Given the description of an element on the screen output the (x, y) to click on. 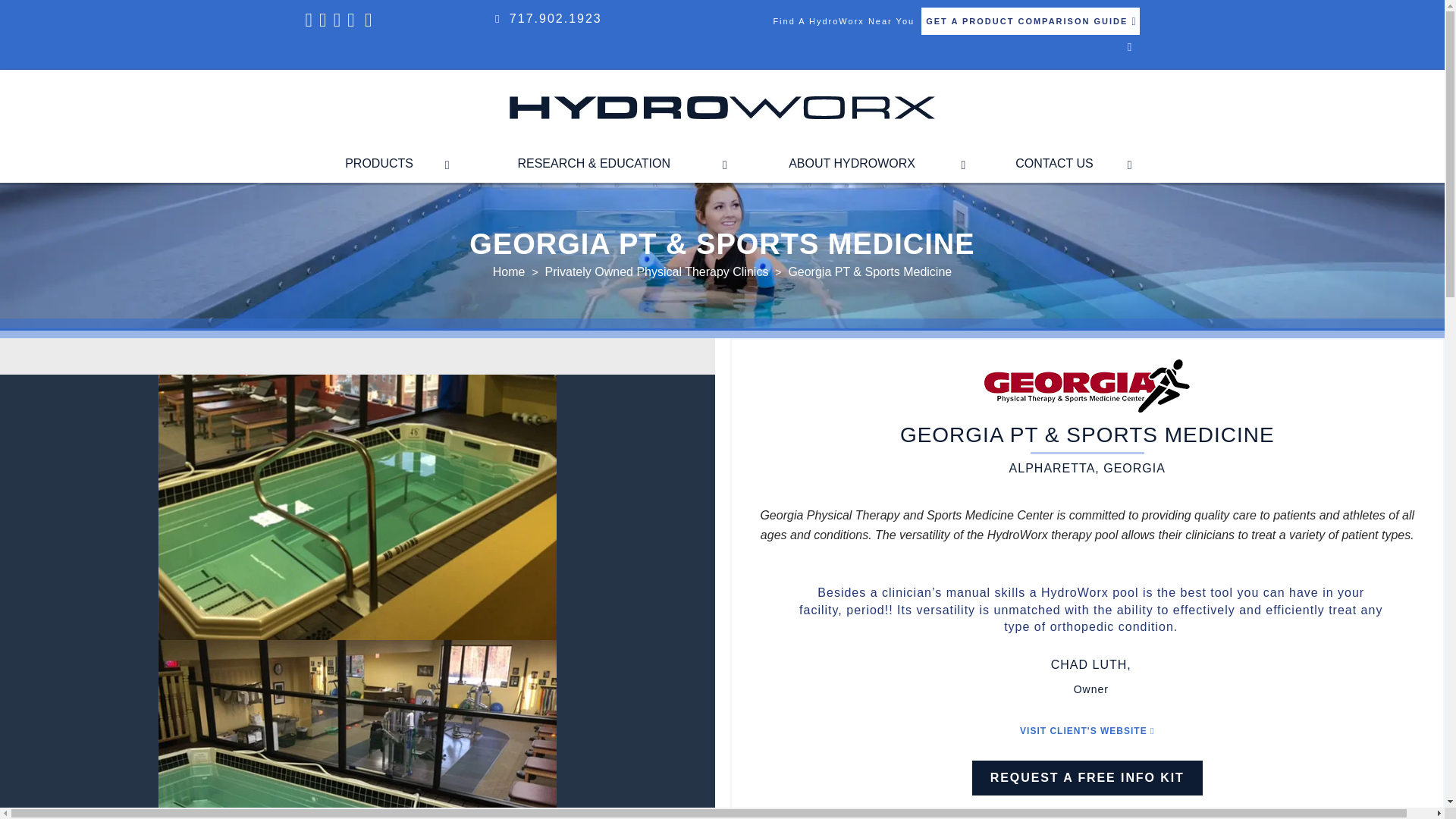
Find A HydroWorx Near You (843, 20)
GeorgiaPT0902 (357, 729)
PRODUCTS (380, 163)
GET A PRODUCT COMPARISON GUIDE (1029, 21)
717.902.1923 (555, 18)
